Given the description of an element on the screen output the (x, y) to click on. 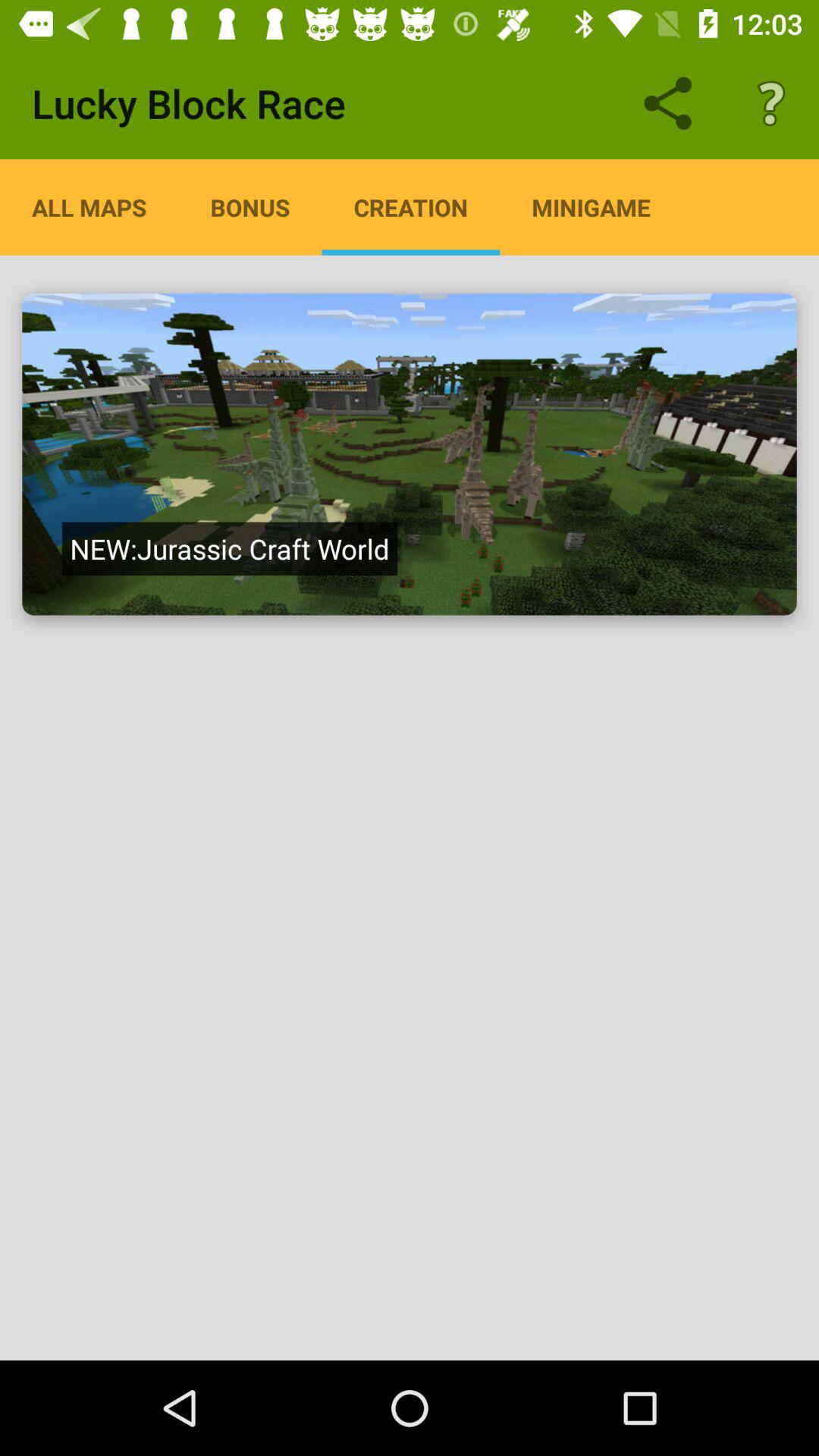
select creation (409, 454)
